Given the description of an element on the screen output the (x, y) to click on. 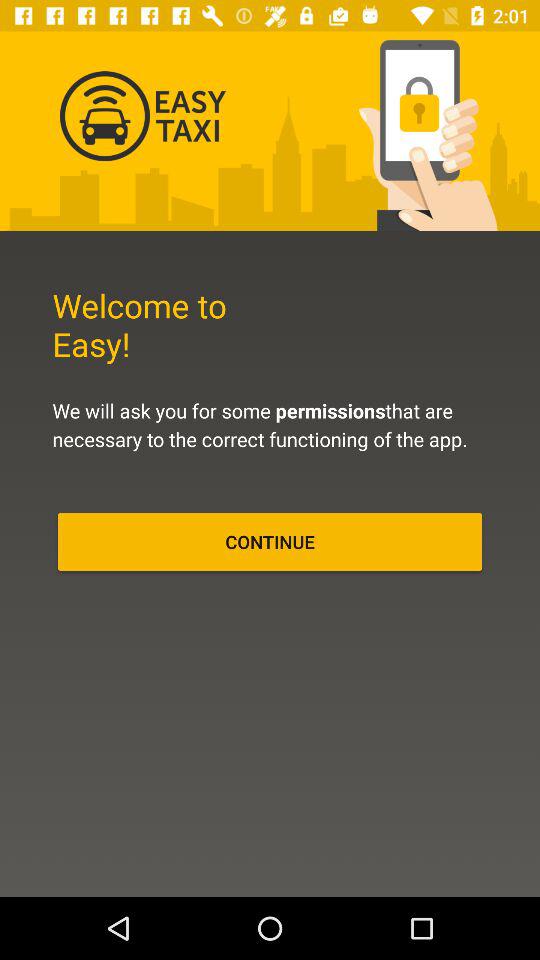
tap the continue icon (269, 541)
